Given the description of an element on the screen output the (x, y) to click on. 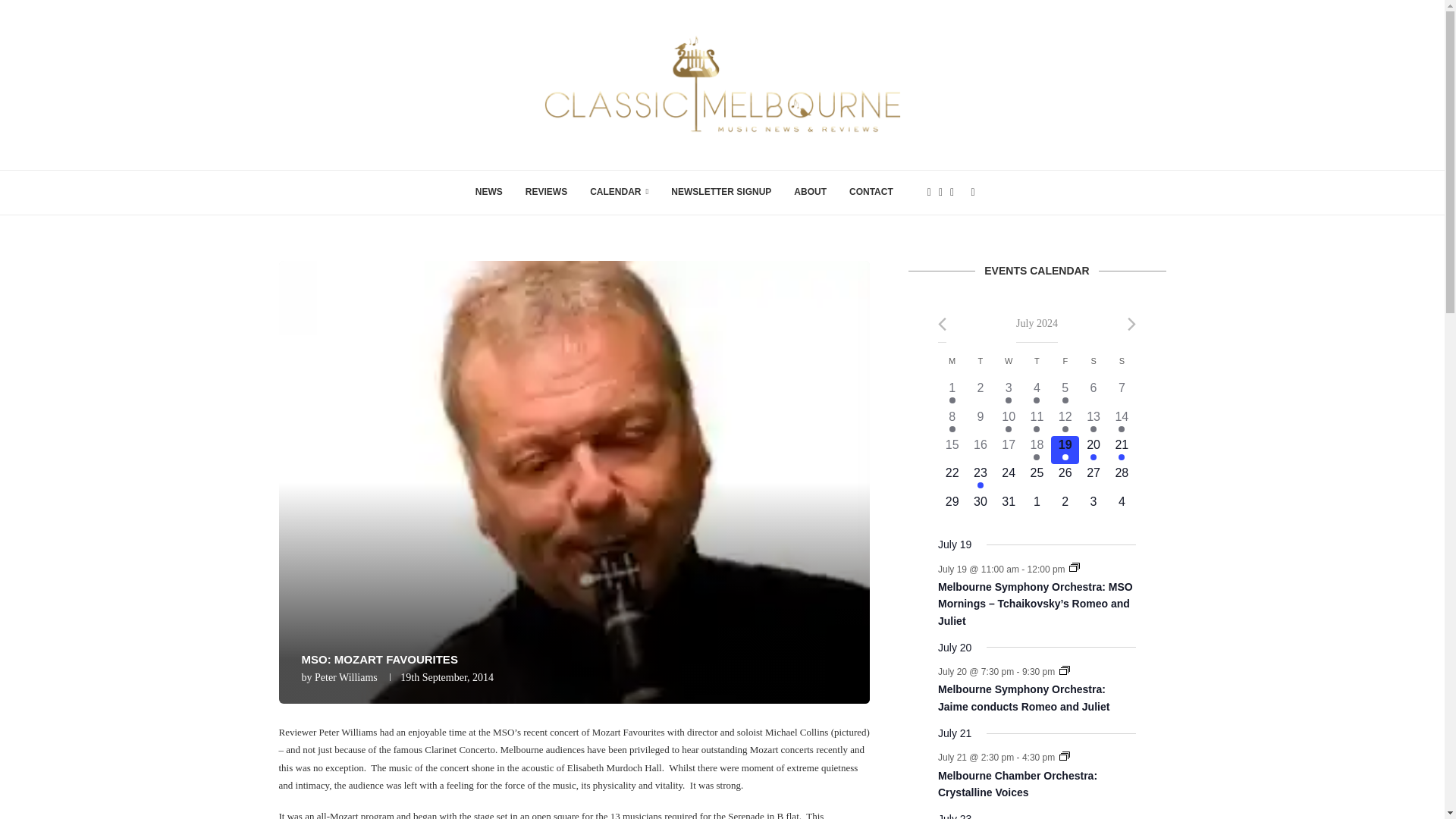
CONTACT (871, 192)
Has events (951, 393)
CALENDAR (1065, 400)
REVIEWS (980, 393)
Event Series (618, 192)
Peter Williams (545, 192)
NEWSLETTER SIGNUP (1074, 566)
Has events (345, 677)
Has events (721, 192)
NEWS (1036, 400)
Event Series (952, 400)
Has events (488, 192)
Event Series (1064, 669)
